Given the description of an element on the screen output the (x, y) to click on. 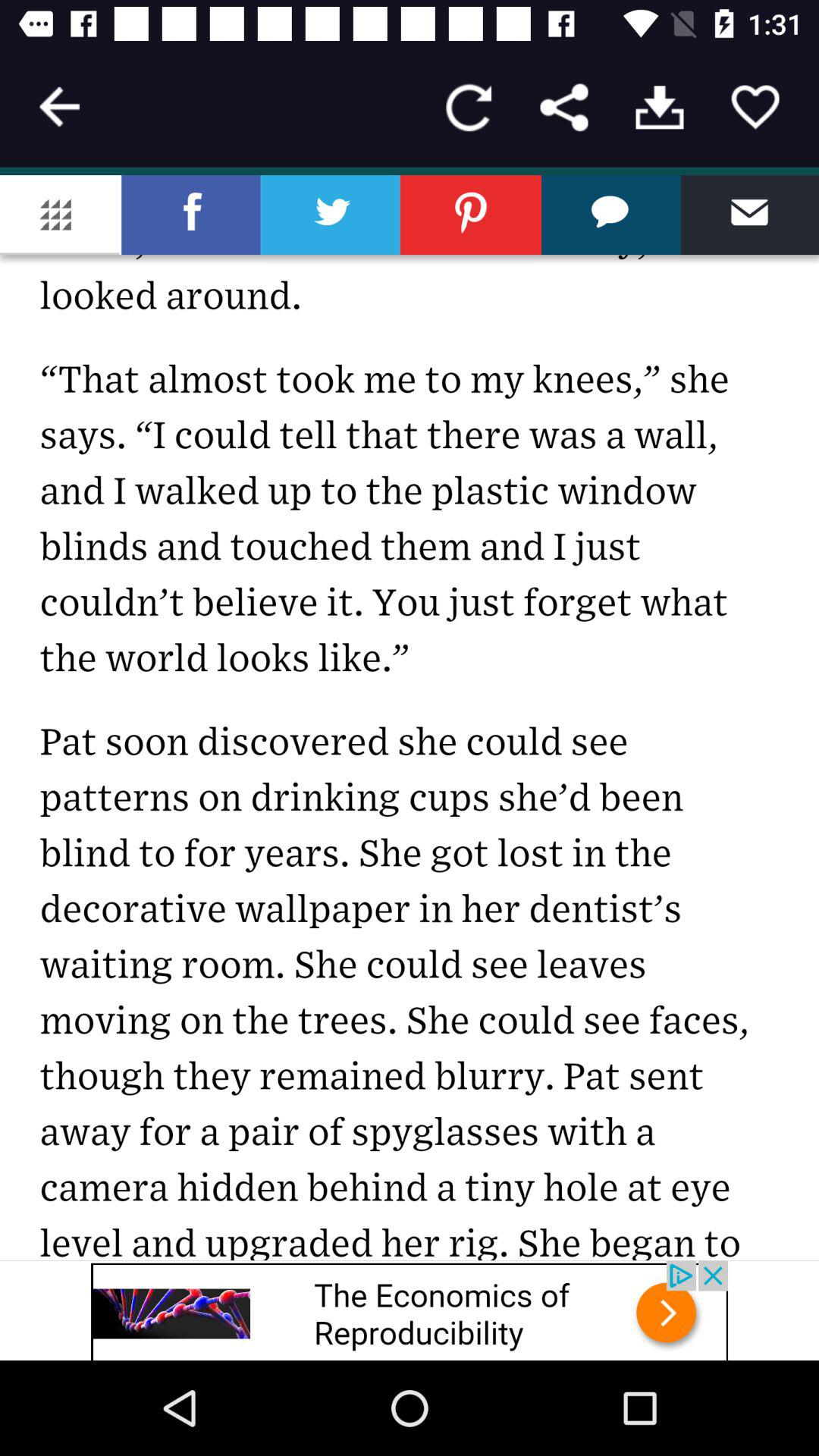
download the article (659, 107)
